Given the description of an element on the screen output the (x, y) to click on. 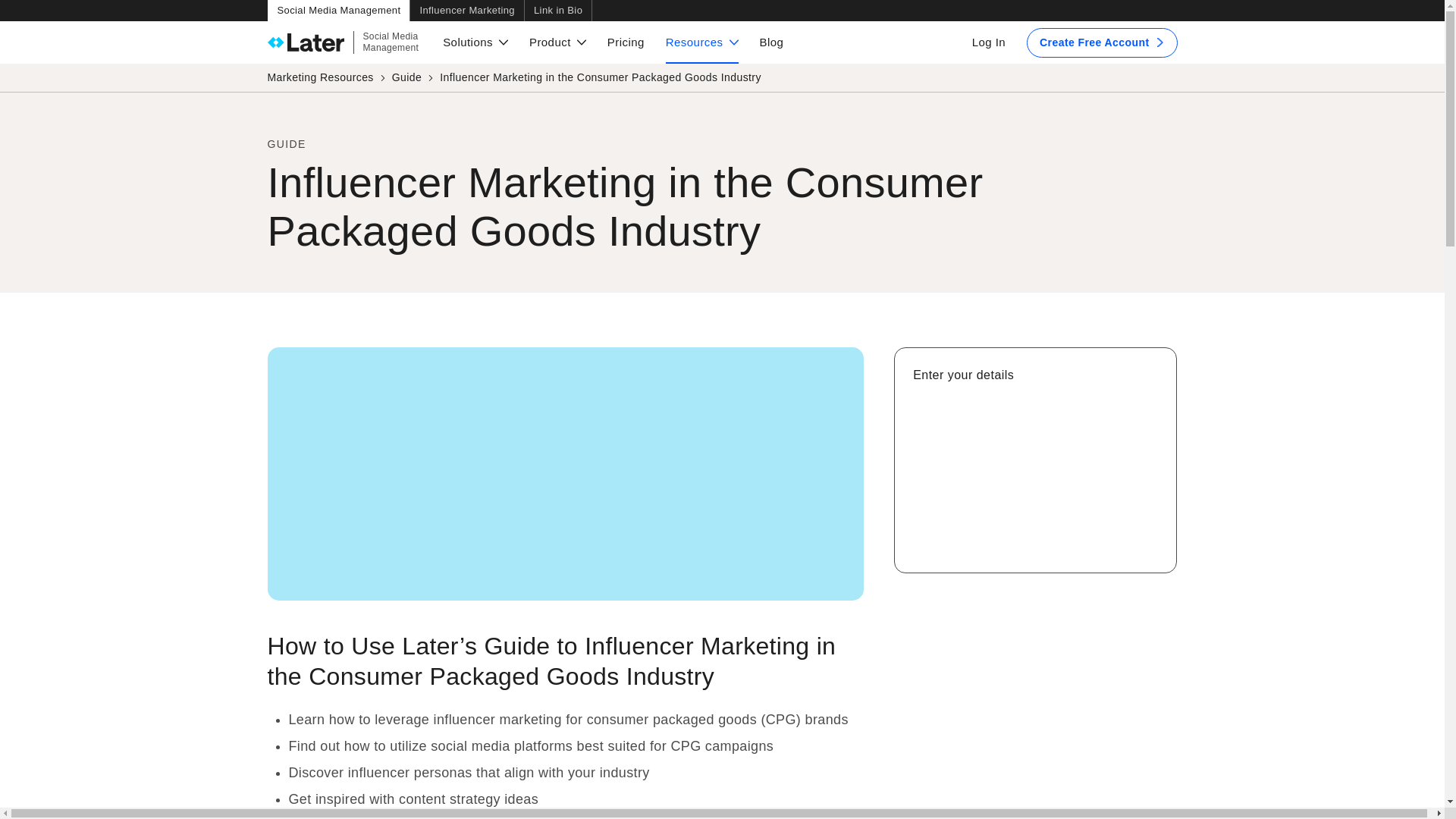
Link in Bio (558, 10)
Solutions (474, 42)
Influencer Marketing (466, 10)
Social Media Management (337, 10)
Resources (342, 42)
Pricing (701, 42)
Product (625, 42)
